Given the description of an element on the screen output the (x, y) to click on. 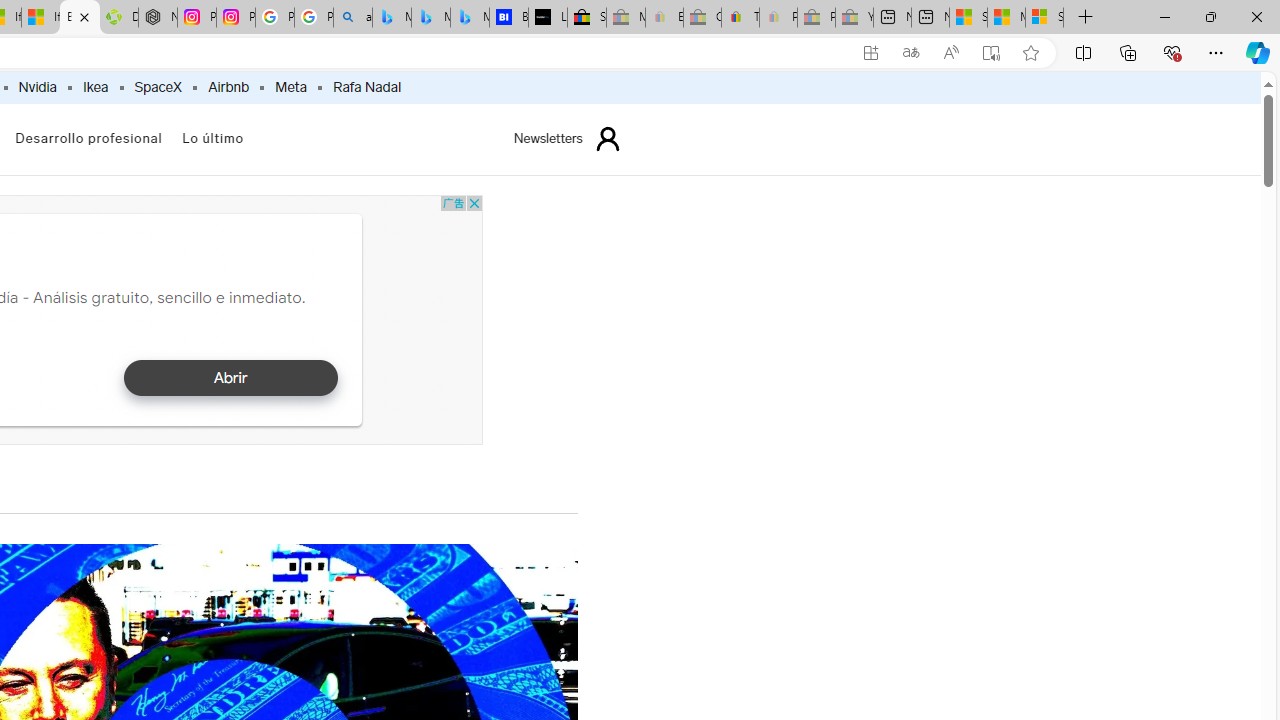
Nvidia (37, 88)
Enter Immersive Reader (F9) (991, 53)
Newsletters (547, 138)
Descarga Driver Updater (118, 17)
Selling on eBay | Electronics, Fashion, Home & Garden | eBay (586, 17)
Shanghai, China hourly forecast | Microsoft Weather (967, 17)
